Given the description of an element on the screen output the (x, y) to click on. 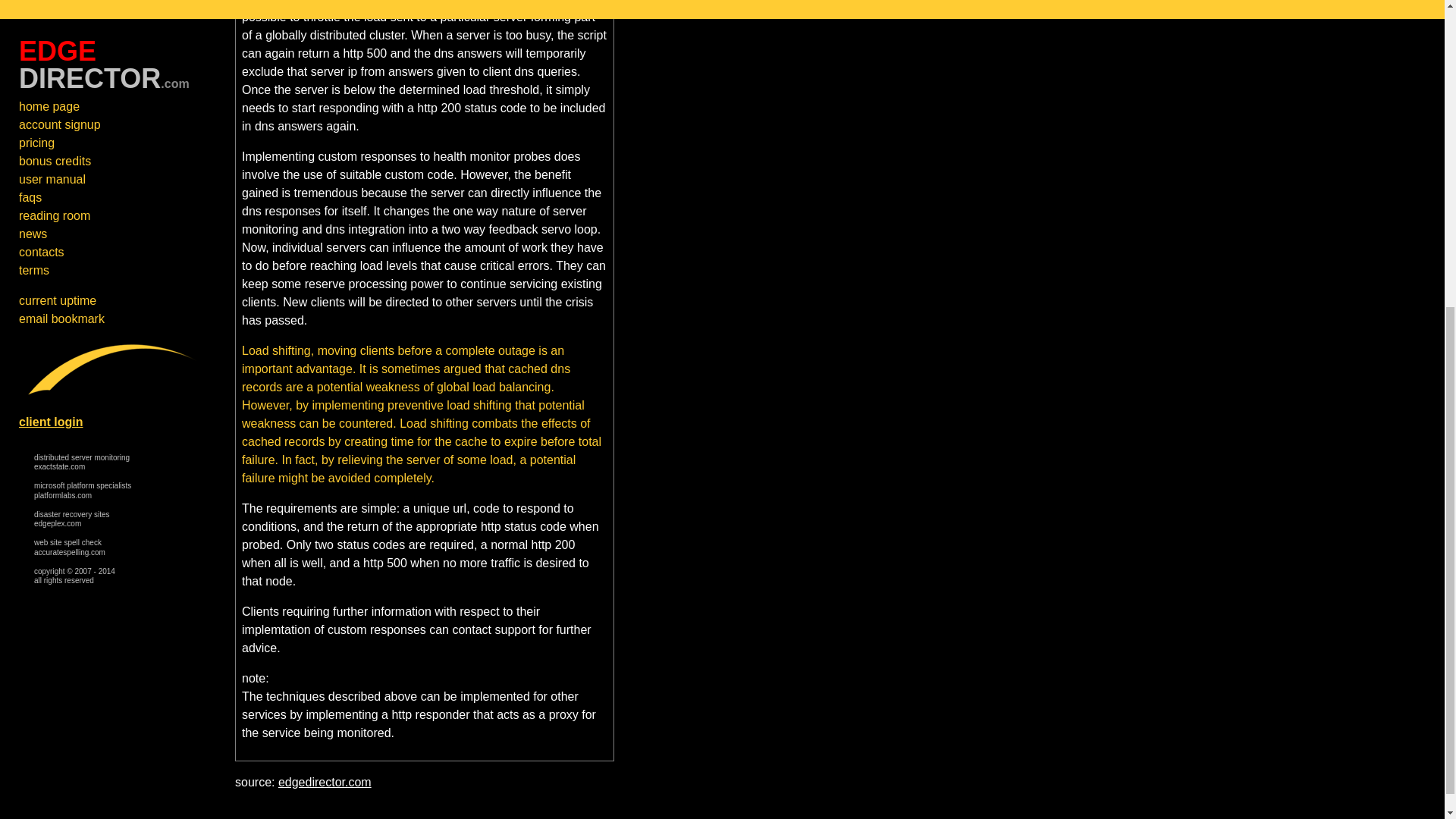
disaster recovery sites (71, 21)
microsoft platform specialists (71, 21)
web site spell check service (82, 1)
edgedirector.com (68, 49)
